Given the description of an element on the screen output the (x, y) to click on. 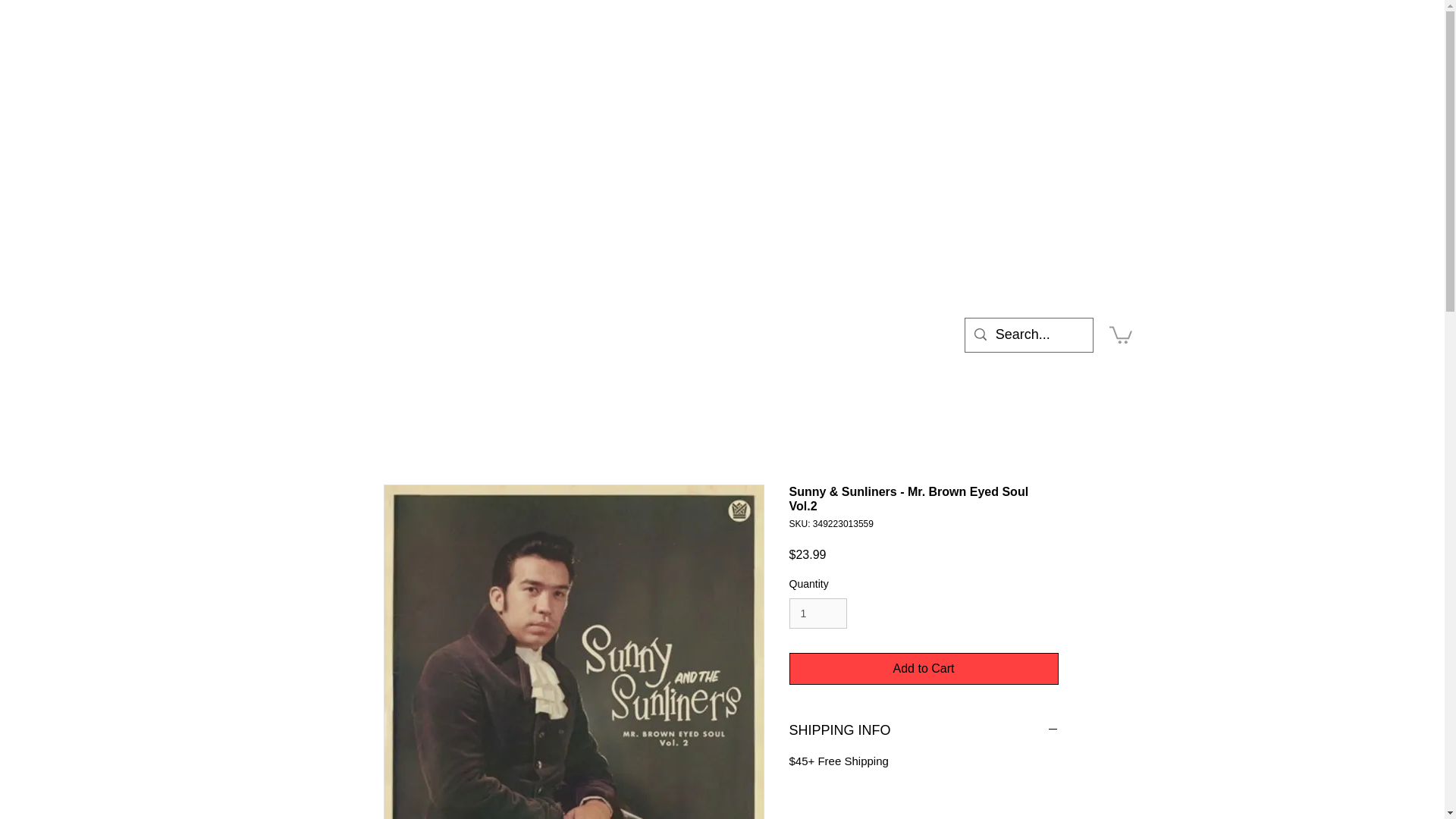
Add to Cart (923, 668)
SHIPPING INFO (923, 730)
1 (817, 613)
